Given the description of an element on the screen output the (x, y) to click on. 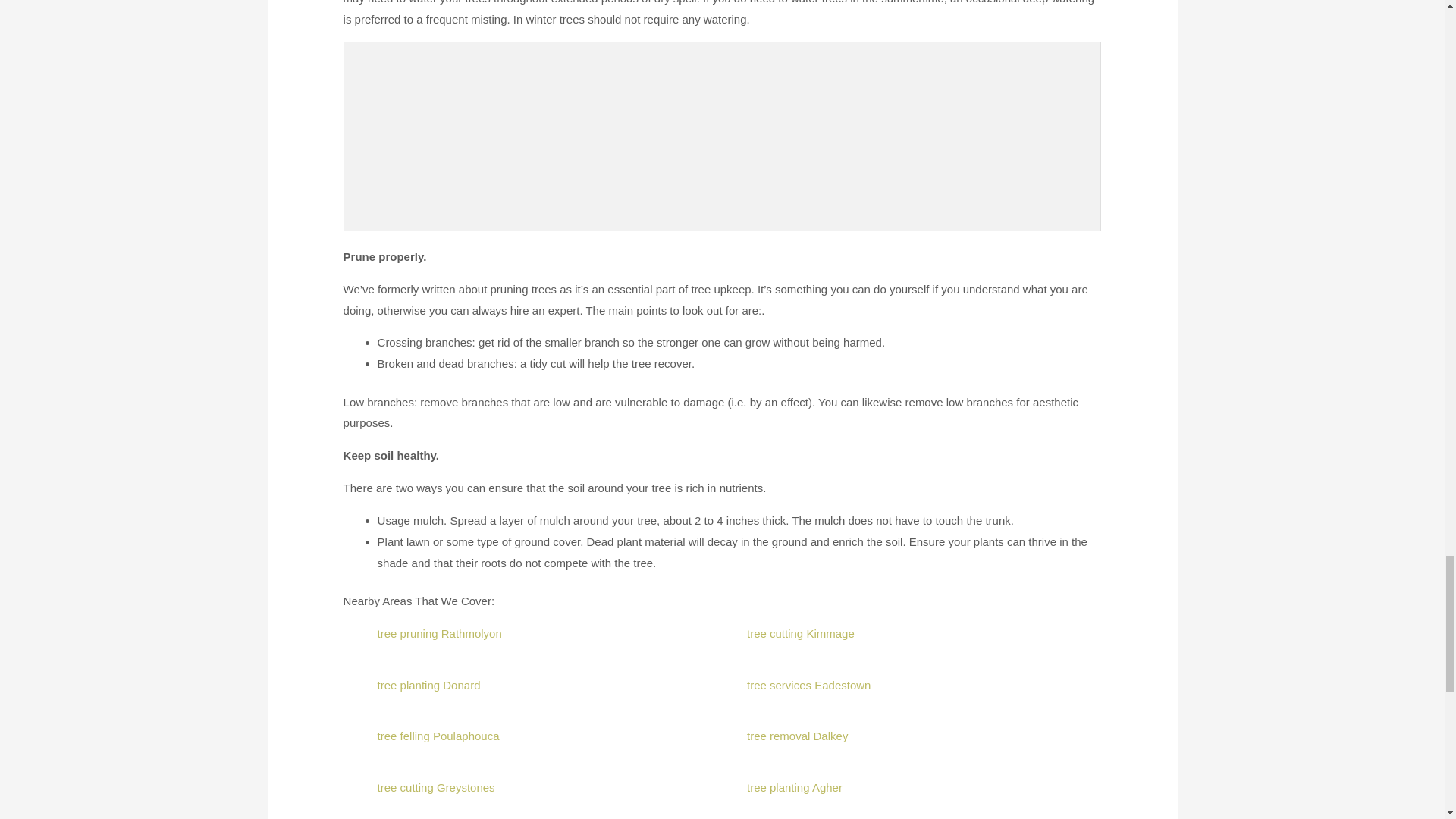
tree cutting Kimmage (800, 633)
tree planting Donard (428, 684)
tree removal Dalkey (796, 735)
tree services Eadestown (808, 684)
tree felling Poulaphouca (438, 735)
tree cutting Greystones (436, 787)
tree pruning Rathmolyon (439, 633)
tree planting Agher (794, 787)
